Given the description of an element on the screen output the (x, y) to click on. 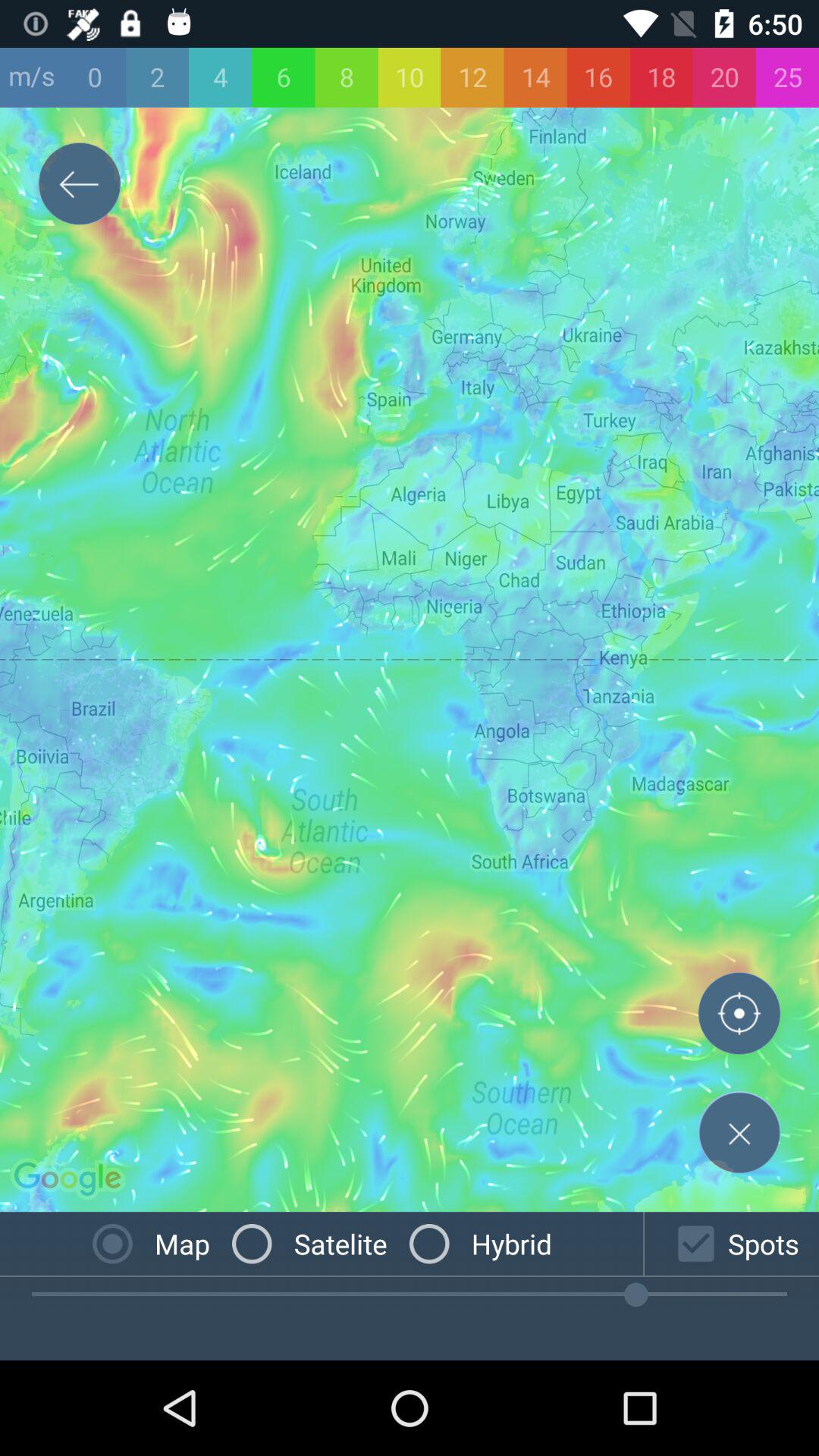
gps location button (739, 1016)
